Given the description of an element on the screen output the (x, y) to click on. 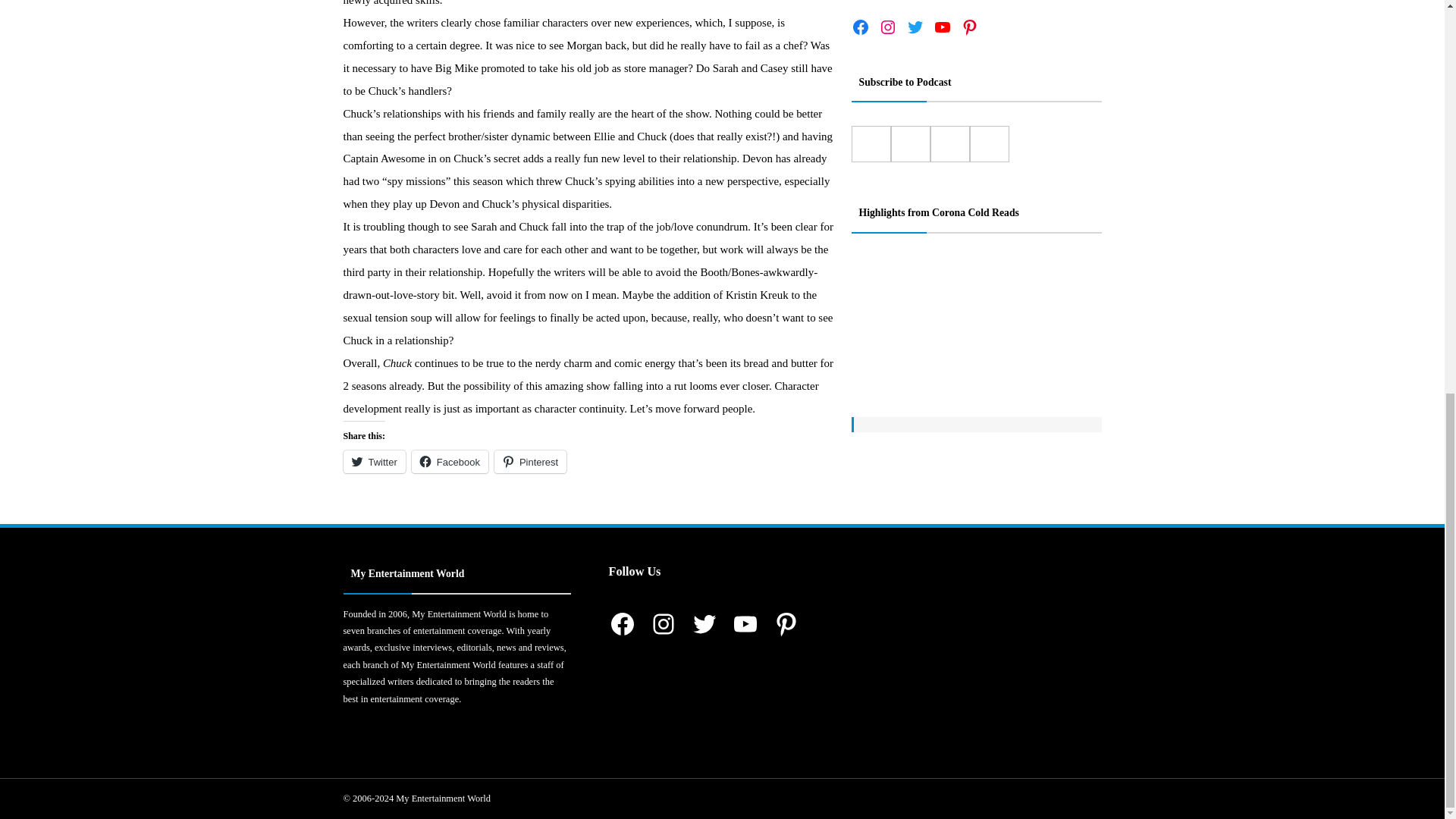
Click to share on Facebook (449, 461)
Click to share on Pinterest (530, 461)
Pinterest (530, 461)
Click to share on Twitter (373, 461)
Twitter (373, 461)
Facebook (449, 461)
